Given the description of an element on the screen output the (x, y) to click on. 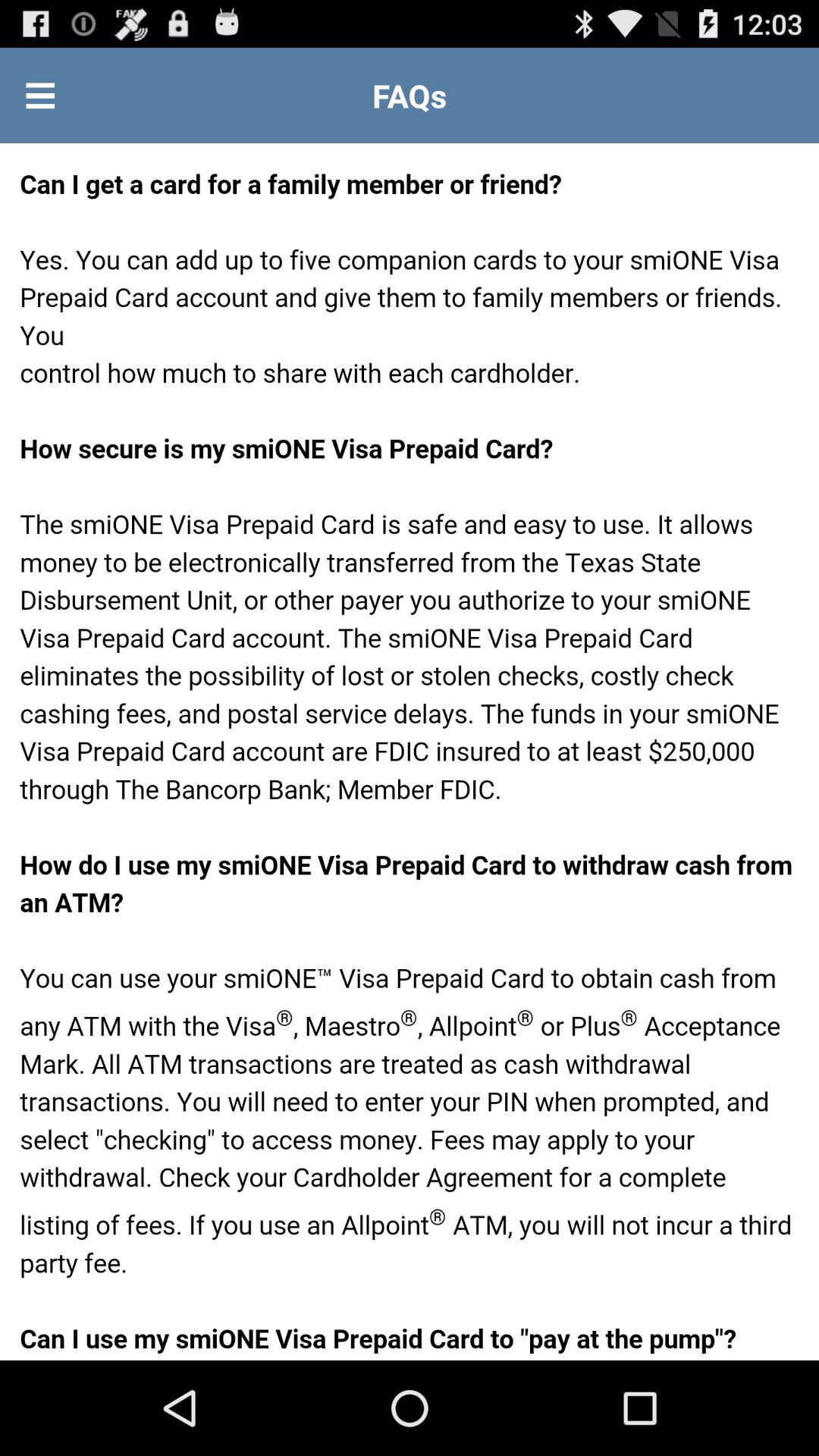
advertisement page (409, 751)
